Given the description of an element on the screen output the (x, y) to click on. 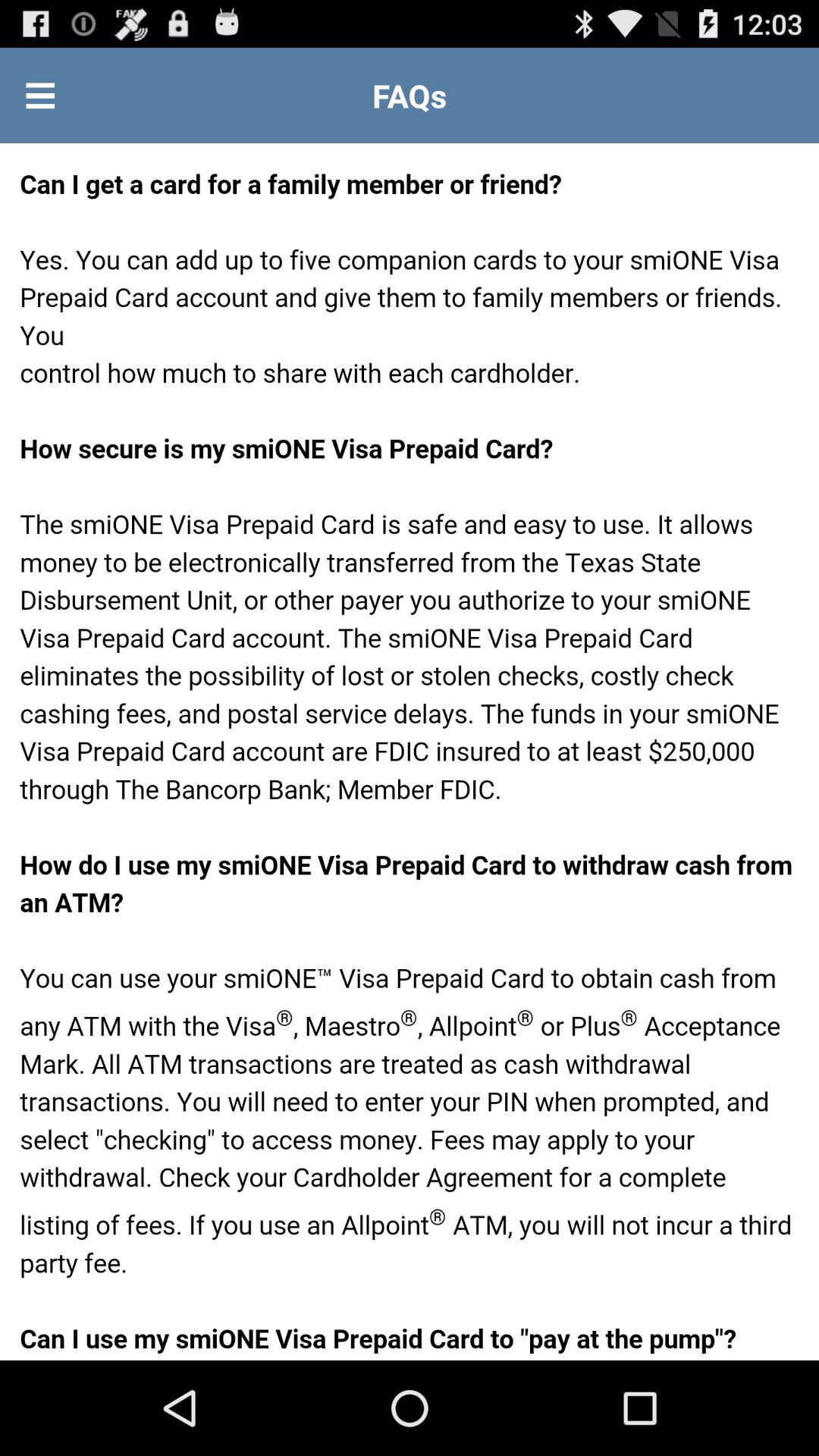
advertisement page (409, 751)
